Given the description of an element on the screen output the (x, y) to click on. 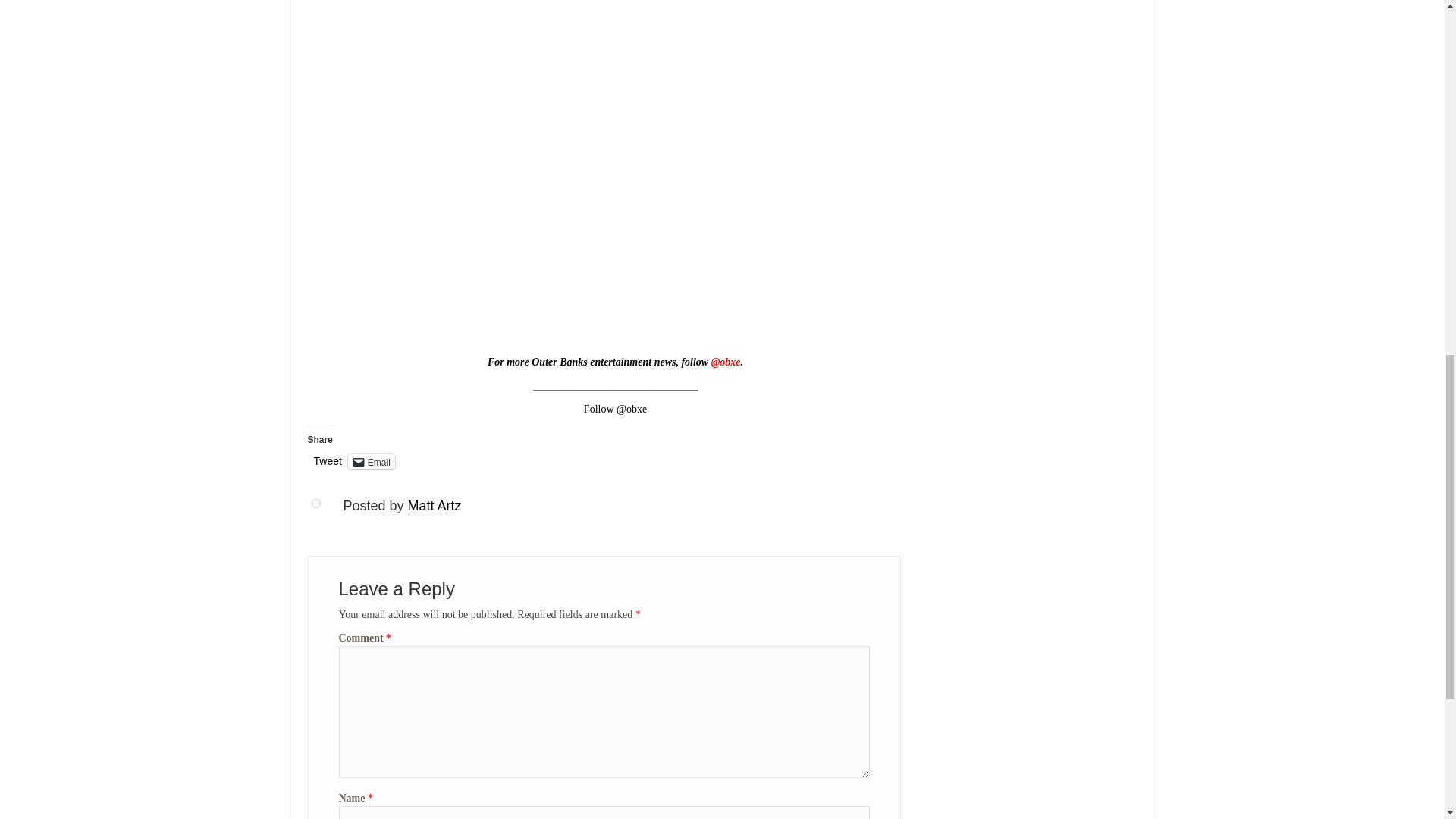
Tweet (328, 460)
Matt Artz (434, 505)
View all posts by Matt Artz (434, 505)
Email (370, 461)
Click to email a link to a friend (370, 461)
